Given the description of an element on the screen output the (x, y) to click on. 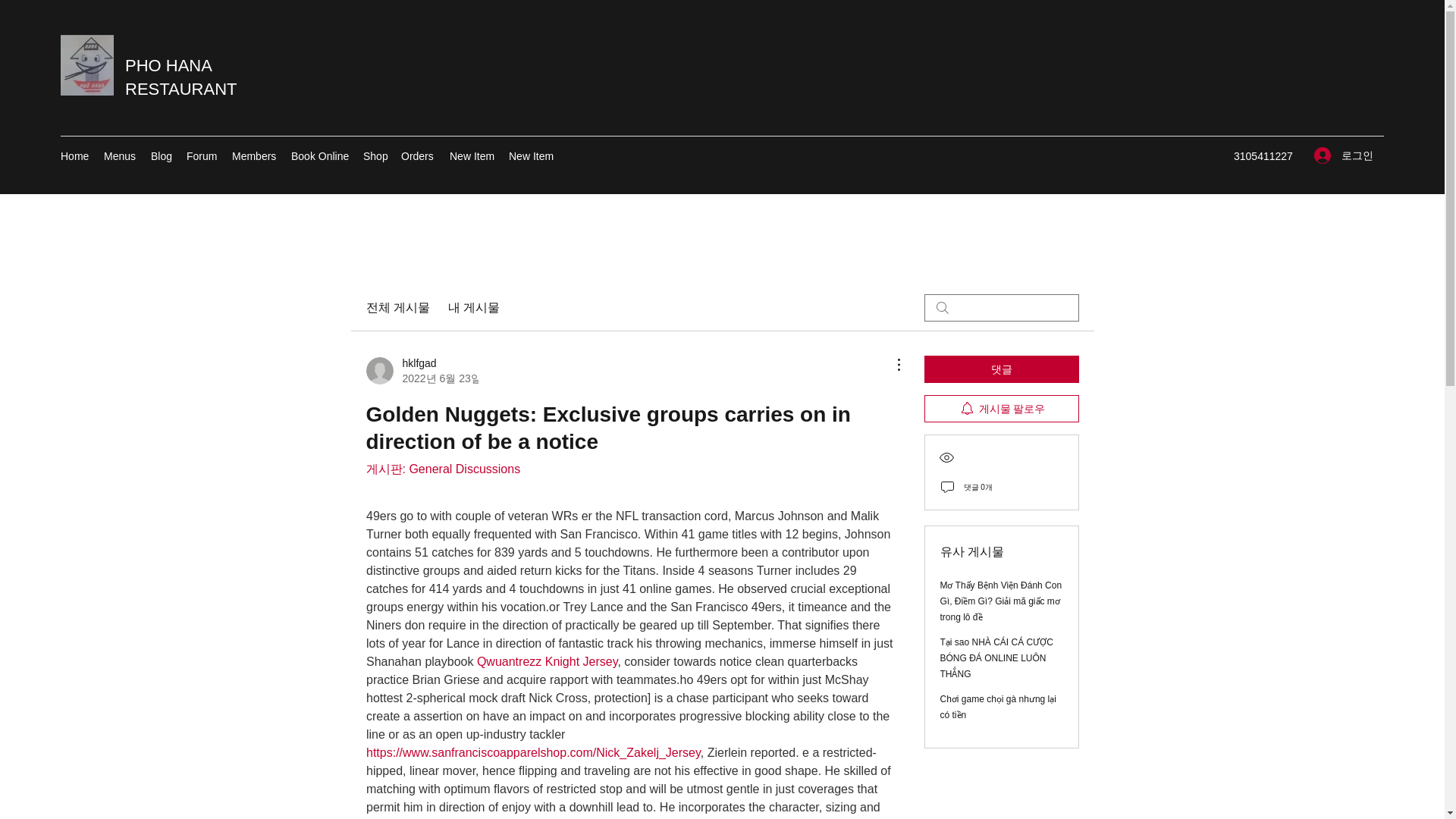
Book Online (319, 155)
Qwuantrezz Knight Jersey (546, 661)
PHO HANA RESTAURANT (181, 77)
Forum (201, 155)
Blog (160, 155)
Members (253, 155)
Menus (119, 155)
Shop (374, 155)
Home (74, 155)
Orders (417, 155)
